Given the description of an element on the screen output the (x, y) to click on. 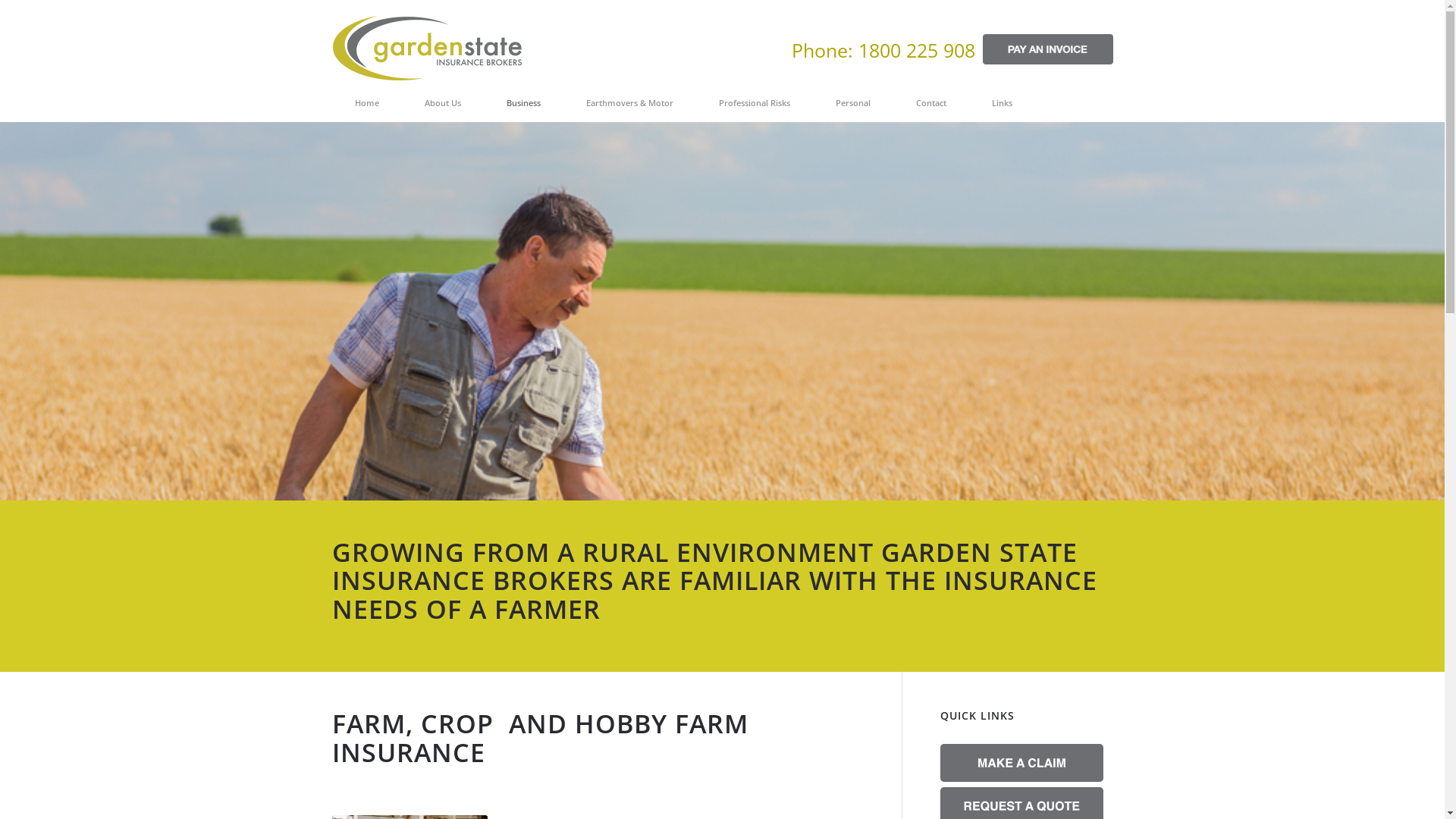
Personal Element type: text (852, 103)
farm crop harvest insurance Element type: hover (722, 432)
Contact Element type: text (931, 103)
Earthmovers & Motor Element type: text (628, 103)
Links Element type: text (1002, 103)
About Us Element type: text (442, 103)
Home Element type: text (366, 103)
Business Element type: text (523, 103)
Professional Risks Element type: text (754, 103)
